Given the description of an element on the screen output the (x, y) to click on. 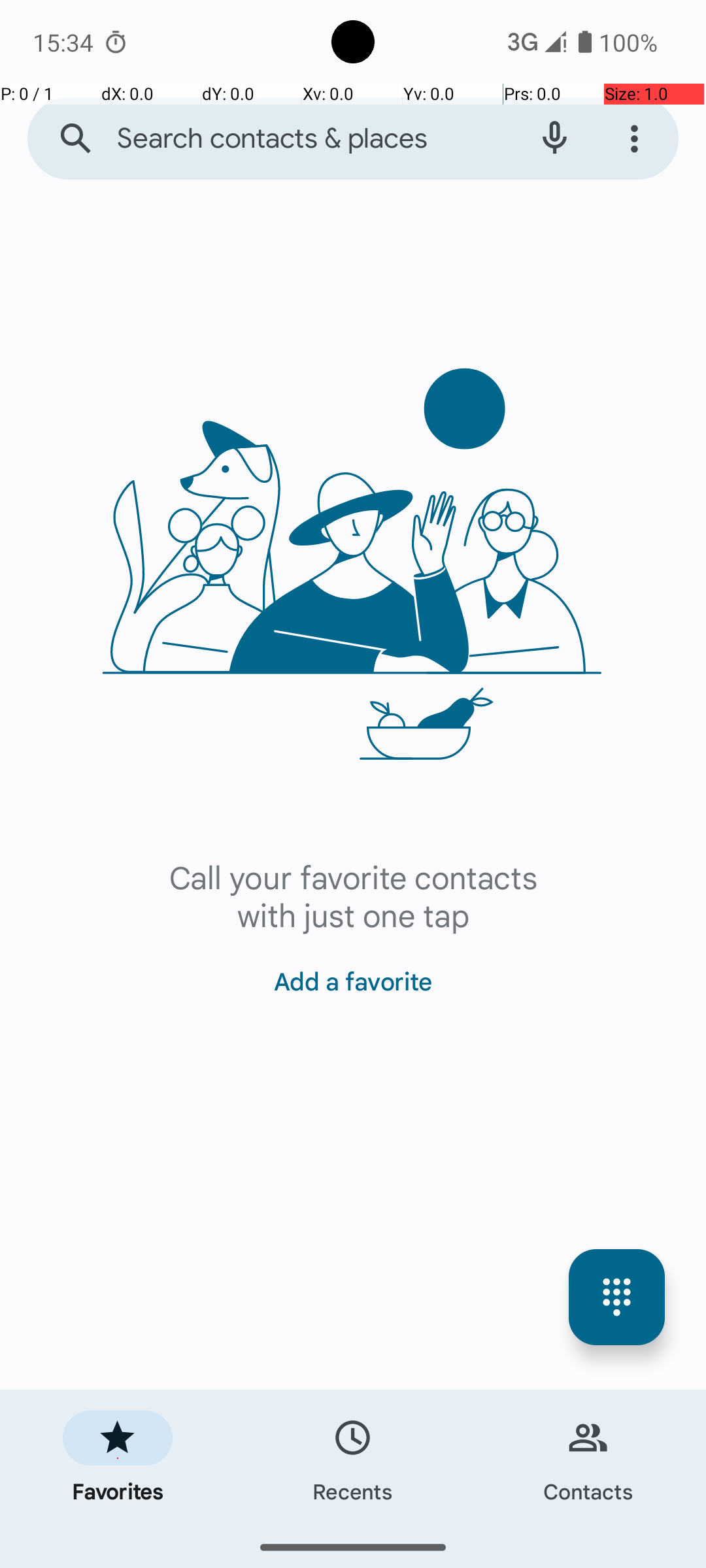
Call your favorite contacts with just one tap Element type: android.widget.TextView (352, 895)
Add a favorite Element type: android.widget.TextView (353, 973)
key pad Element type: android.widget.ImageButton (616, 1297)
Recents Element type: android.widget.FrameLayout (352, 1457)
Start voice search Element type: android.widget.Button (554, 138)
